Given the description of an element on the screen output the (x, y) to click on. 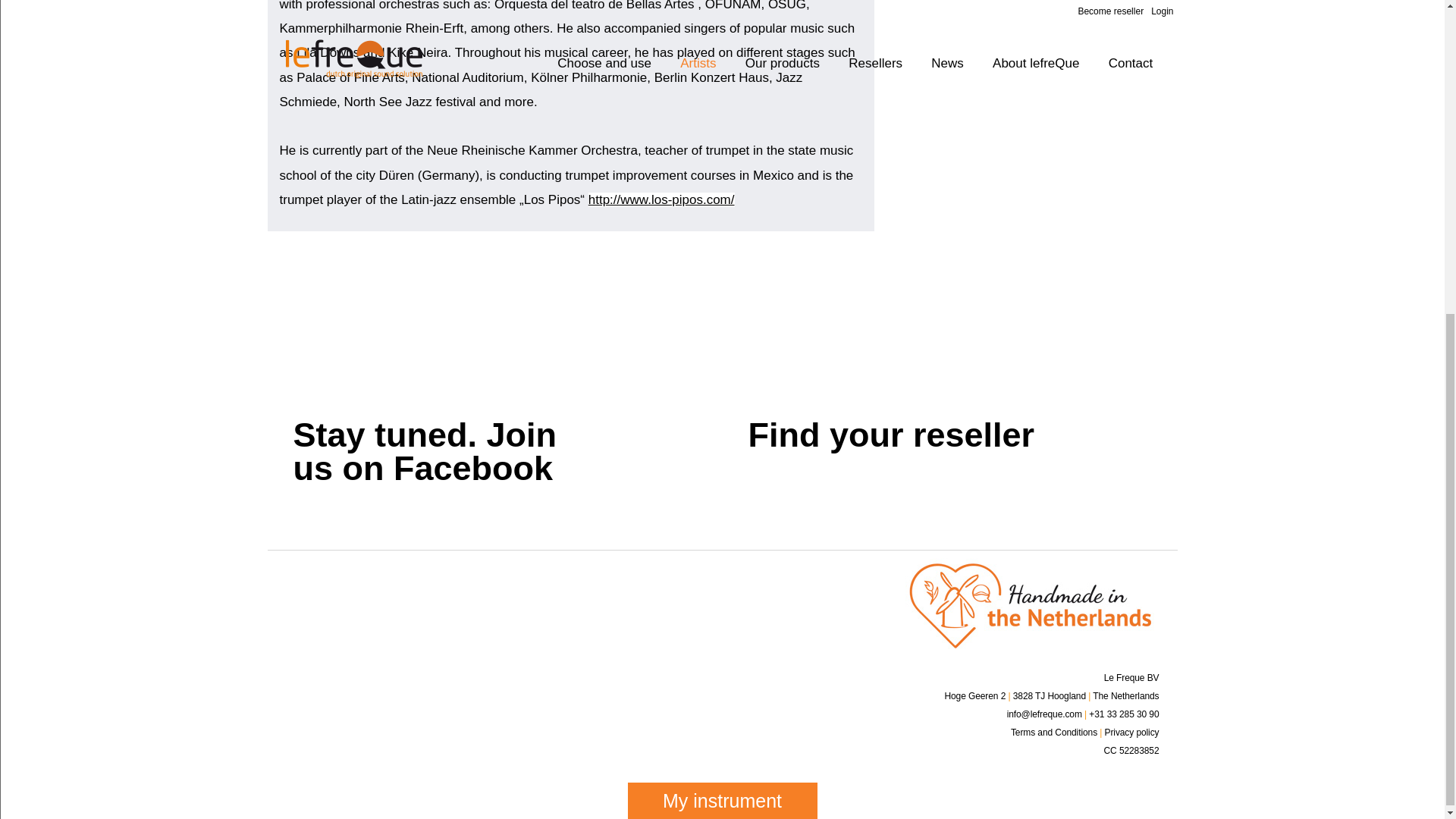
Terms and Conditions (1053, 732)
Stay tuned. Join us on Facebook (639, 457)
Find your reseller (1095, 457)
